Given the description of an element on the screen output the (x, y) to click on. 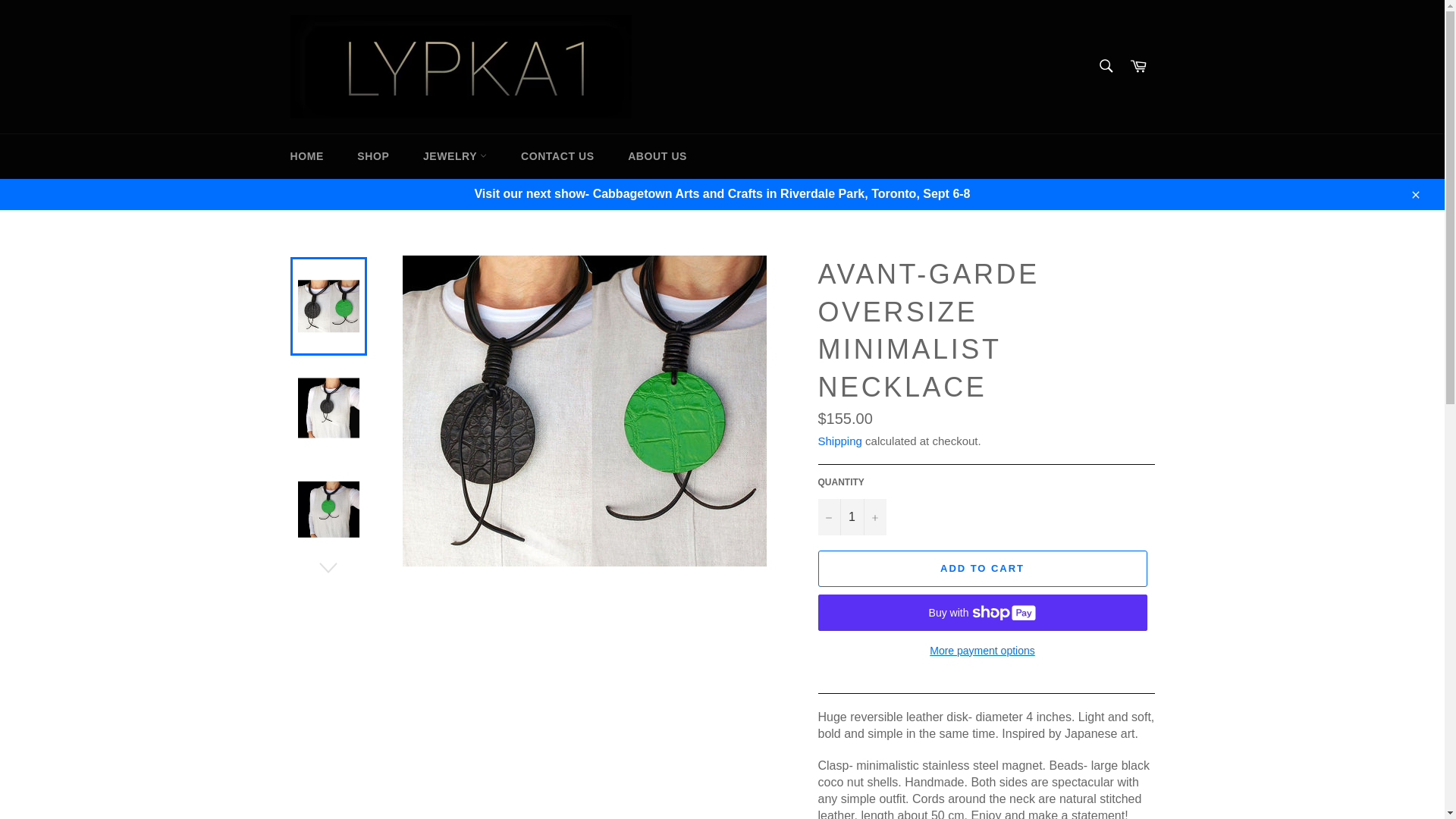
SHOP (373, 156)
CONTACT US (557, 156)
Close (1414, 193)
JEWELRY (454, 156)
HOME (306, 156)
Cart (1138, 66)
1 (850, 516)
Search (1104, 65)
ABOUT US (656, 156)
